Given the description of an element on the screen output the (x, y) to click on. 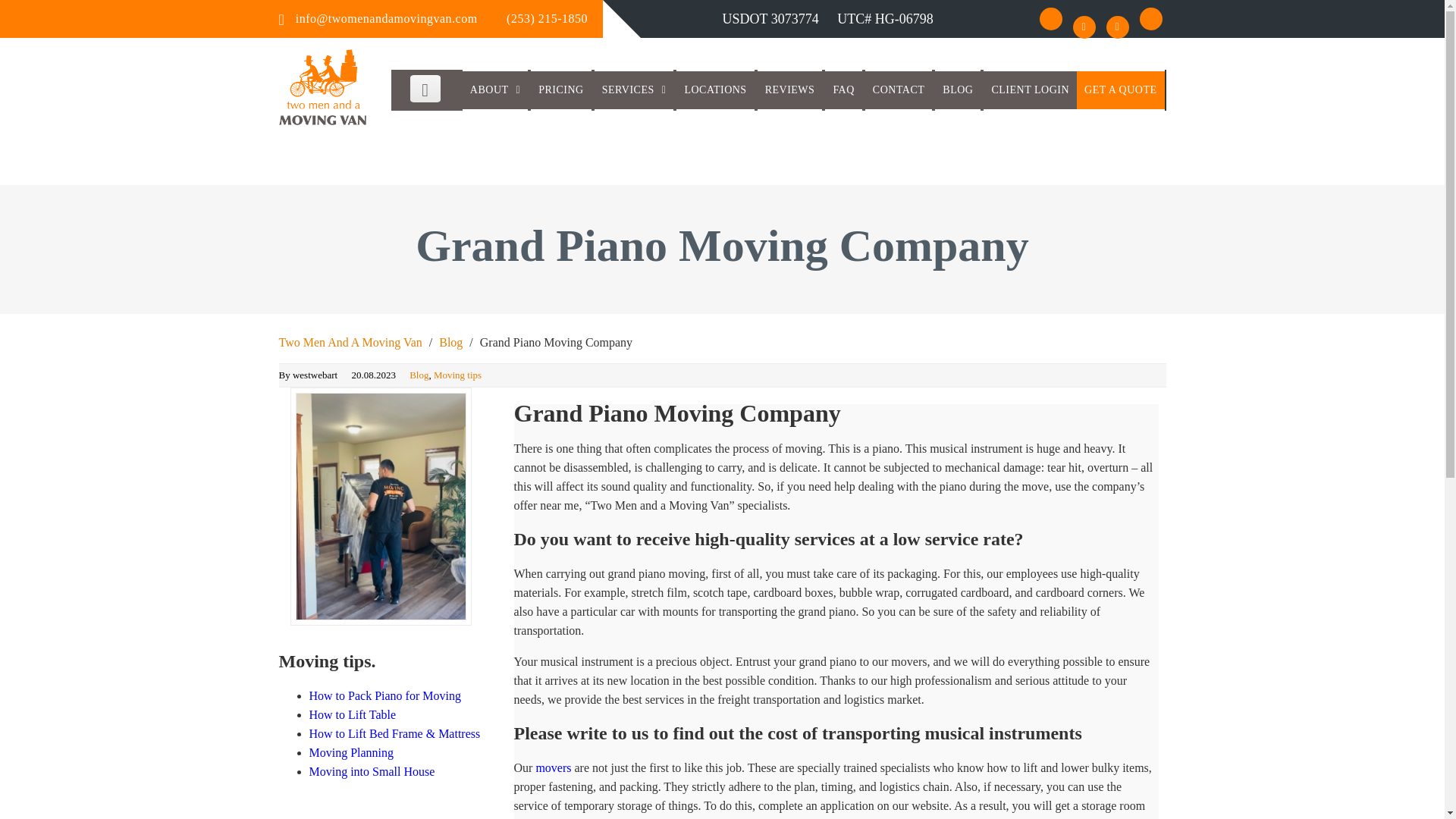
Moving tips (457, 374)
How to Lift Table (352, 714)
Moving Planning (351, 752)
REVIEWS (789, 89)
Two Men And A Moving Van (350, 341)
Blog (418, 374)
SERVICES (634, 89)
FAQ (843, 89)
We are on instagram (1082, 26)
LOCATIONS (715, 89)
CLIENT LOGIN (1030, 89)
We are on youtube (1116, 26)
ABOUT (495, 89)
BLOG (956, 89)
Two Men and a Moving Van (322, 120)
